Given the description of an element on the screen output the (x, y) to click on. 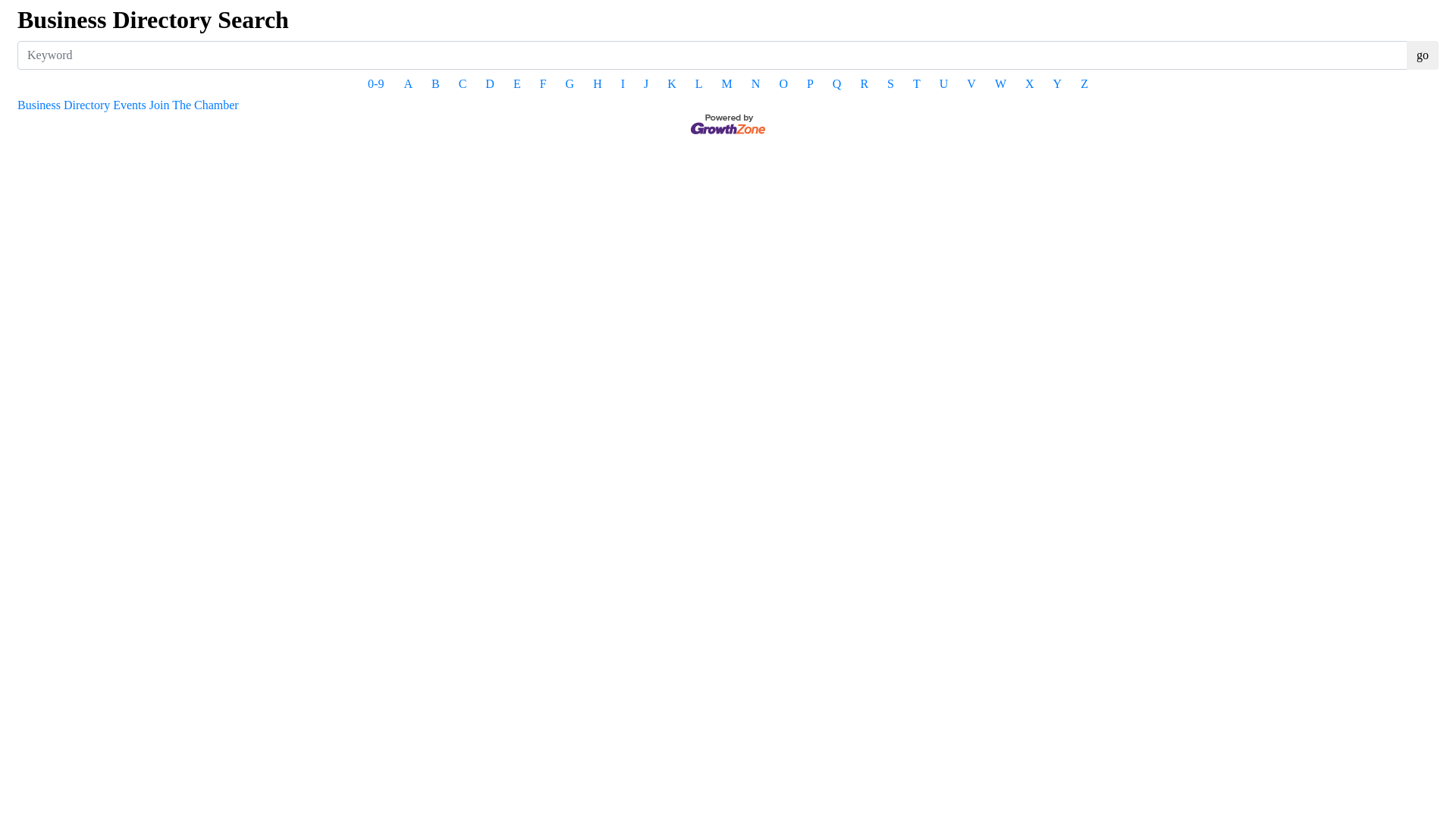
Join The Chamber Element type: text (193, 104)
V Element type: text (971, 83)
S Element type: text (890, 83)
R Element type: text (864, 83)
P Element type: text (810, 83)
I Element type: text (622, 83)
T Element type: text (916, 83)
O Element type: text (782, 83)
Events Element type: text (129, 104)
W Element type: text (1000, 83)
D Element type: text (489, 83)
F Element type: text (543, 83)
Business Directory Element type: text (63, 104)
X Element type: text (1029, 83)
C Element type: text (462, 83)
J Element type: text (645, 83)
Y Element type: text (1057, 83)
G Element type: text (569, 83)
go Element type: text (1422, 54)
A Element type: text (407, 83)
B Element type: text (435, 83)
L Element type: text (698, 83)
M Element type: text (727, 83)
U Element type: text (943, 83)
N Element type: text (755, 83)
E Element type: text (516, 83)
K Element type: text (671, 83)
Q Element type: text (836, 83)
0-9 Element type: text (375, 83)
Z Element type: text (1084, 83)
H Element type: text (597, 83)
